Given the description of an element on the screen output the (x, y) to click on. 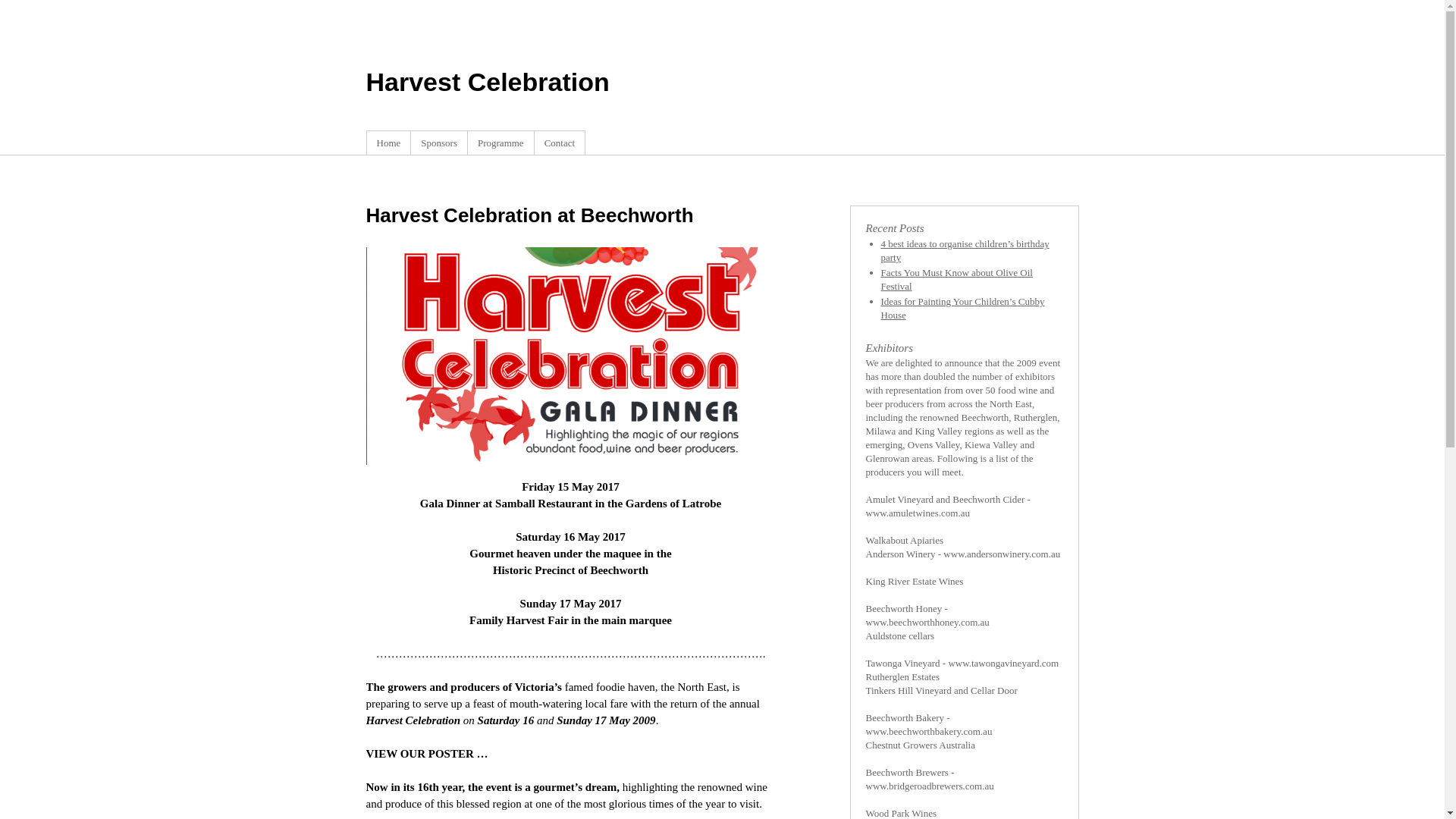
Programme Element type: text (500, 142)
Contact Element type: text (559, 142)
Sponsors Element type: text (438, 142)
Facts You Must Know about Olive Oil Festival Element type: text (956, 278)
Home Element type: text (388, 142)
Harvest Celebration Element type: text (486, 81)
